Given the description of an element on the screen output the (x, y) to click on. 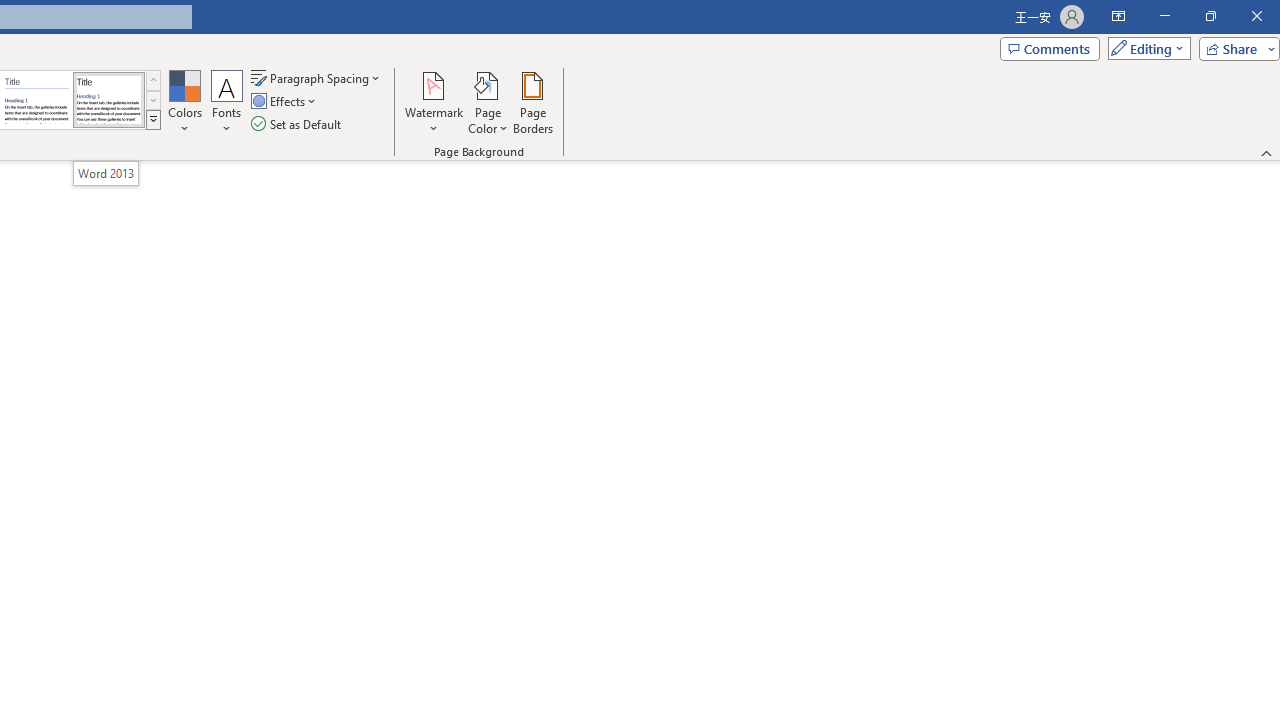
Row Down (153, 100)
Fonts (227, 102)
Set as Default (298, 124)
Row up (153, 79)
Word 2010 (36, 100)
Style Set (153, 120)
Word 2013 (105, 173)
Editing (1144, 47)
Page Borders... (532, 102)
